Given the description of an element on the screen output the (x, y) to click on. 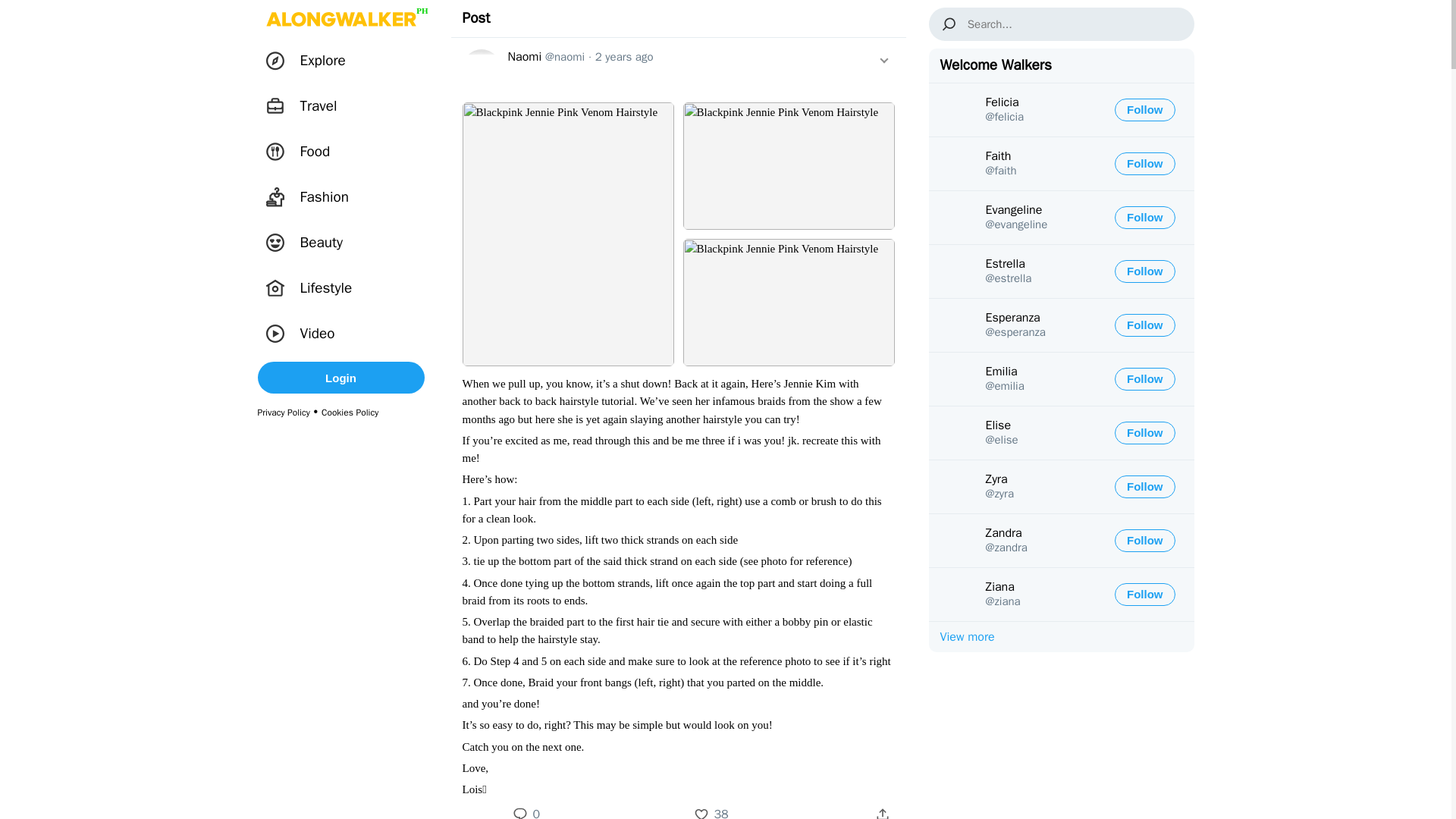
Privacy Policy (283, 412)
Explore (311, 60)
Video (305, 333)
Travel (306, 105)
Login (341, 377)
Lifestyle (314, 288)
0 (536, 812)
38 (721, 812)
Cookies Policy (349, 412)
Beauty (309, 242)
Fashion (312, 196)
Food (303, 151)
